Given the description of an element on the screen output the (x, y) to click on. 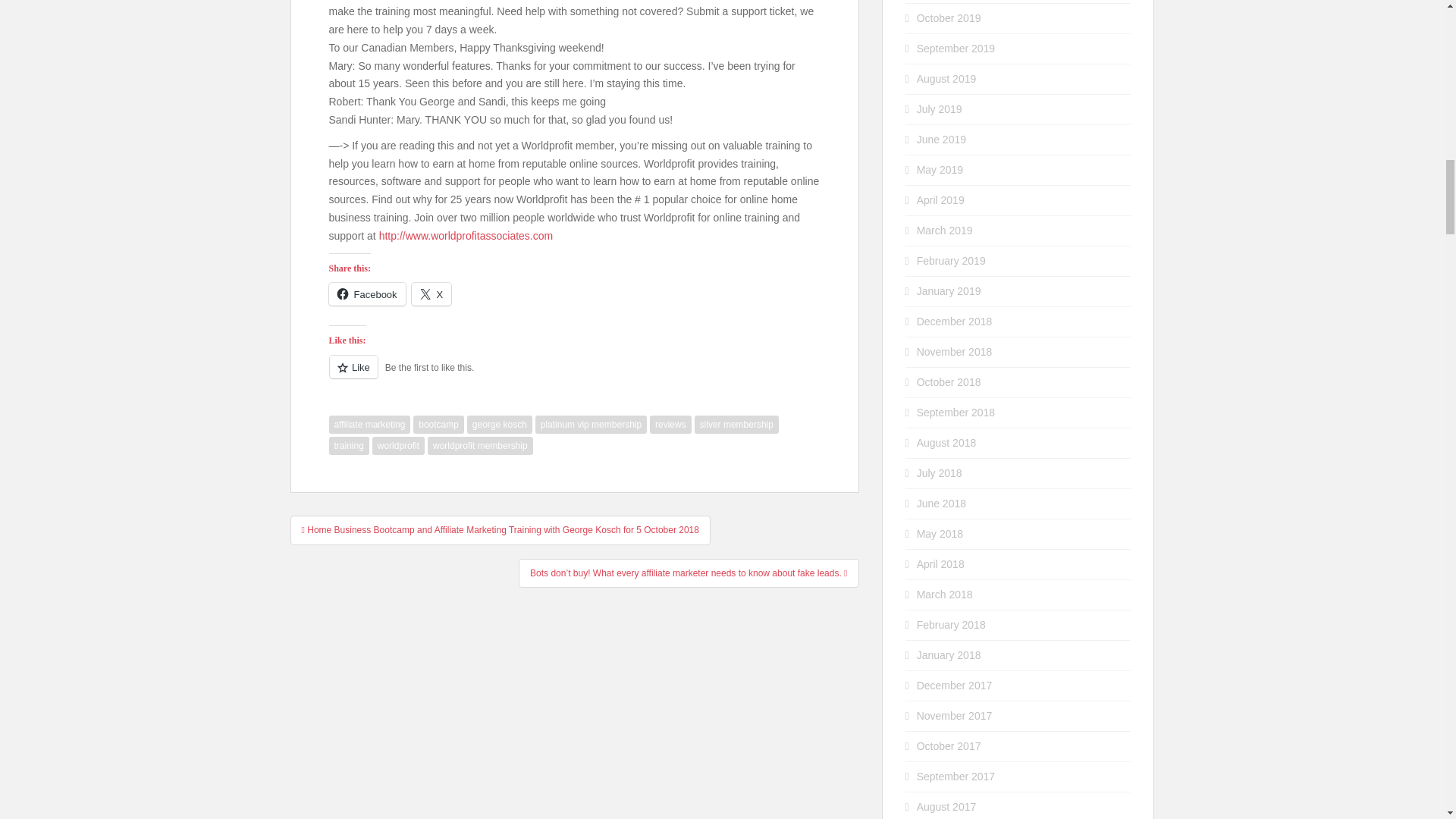
worldprofit membership (480, 445)
Facebook (367, 293)
X (431, 293)
affiliate marketing (369, 424)
george kosch (499, 424)
Like or Reblog (575, 375)
training (349, 445)
reviews (670, 424)
platinum vip membership (590, 424)
bootcamp (438, 424)
silver membership (736, 424)
worldprofit (398, 445)
Click to share on Facebook (367, 293)
Click to share on X (431, 293)
